Given the description of an element on the screen output the (x, y) to click on. 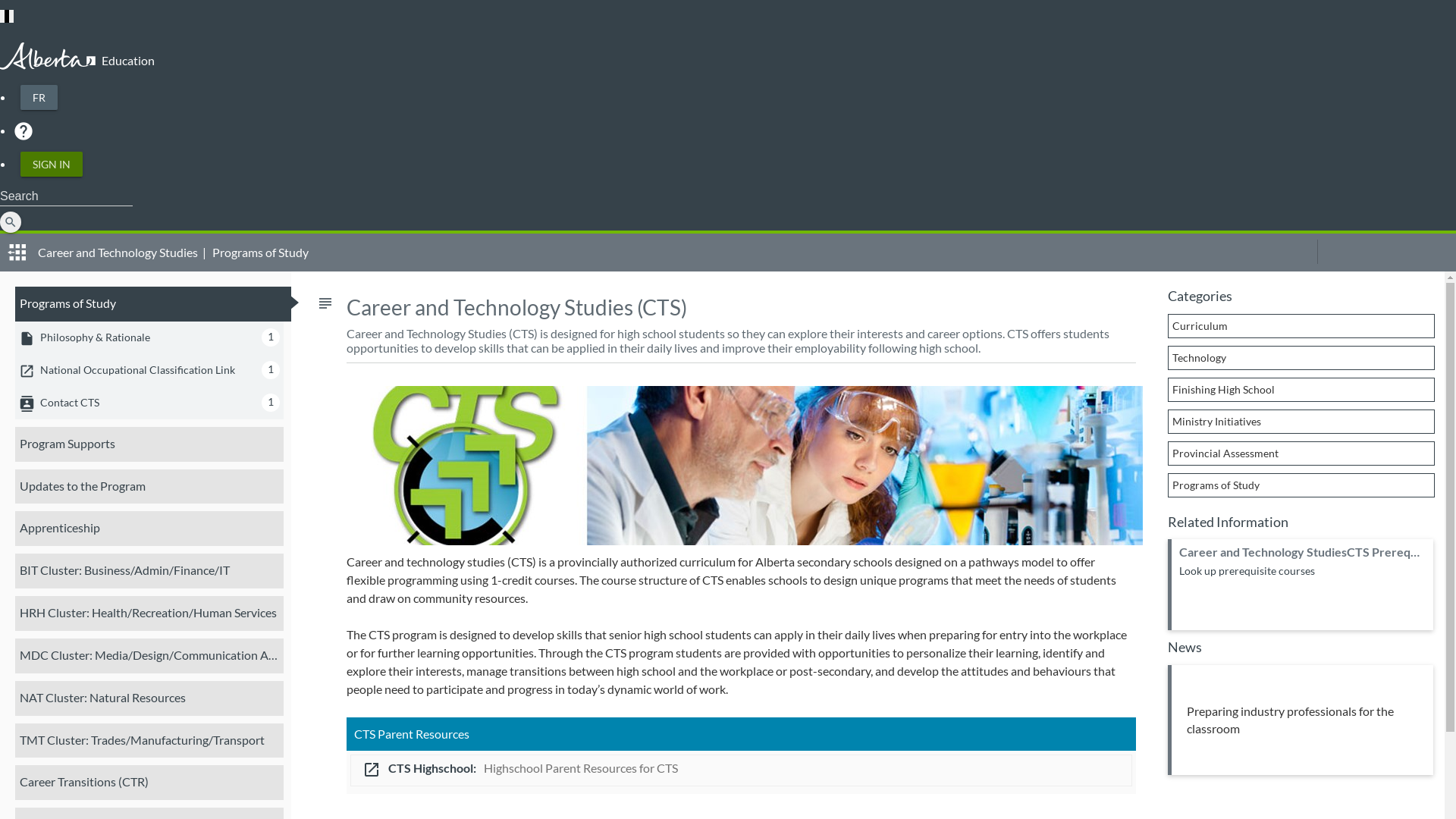
Career Transitions (CTR) Element type: text (149, 782)
Finishing High School Element type: text (1300, 389)
Facebook Element type: text (1335, 251)
search Element type: text (10, 221)
open_in_new National Occupational Classification Link
1 Element type: text (149, 370)
MDC Cluster: Media/Design/Communication Arts Element type: text (149, 655)
Technology Element type: text (1300, 357)
Updates to the Program Element type: text (149, 485)
LinkedIn Element type: text (1400, 251)
HRH Cluster: Health/Recreation/Human Services Element type: text (149, 613)
insert_drive_file Philosophy & Rationale
1 Element type: text (149, 337)
Provincial Assessment Element type: text (1300, 453)
NAT Cluster: Natural Resources Element type: text (149, 697)
SIGN IN Element type: text (51, 163)
TMT Cluster: Trades/Manufacturing/Transport Element type: text (149, 740)
Apprenticeship Element type: text (149, 528)
Programs of Study Element type: text (153, 303)
Twitter Element type: text (1367, 251)
Program Supports Element type: text (149, 443)
contacts Contact CTS
1 Element type: text (149, 402)
FR Element type: text (38, 96)
BIT Cluster: Business/Admin/Finance/IT Element type: text (149, 570)
Curriculum Element type: text (1300, 325)
Email Element type: text (1433, 251)
Print Element type: text (1294, 251)
Preparing industry professionals for the classroom Element type: text (1300, 720)
Programs of Study Element type: text (1300, 485)
Ministry Initiatives Element type: text (1300, 421)
